Given the description of an element on the screen output the (x, y) to click on. 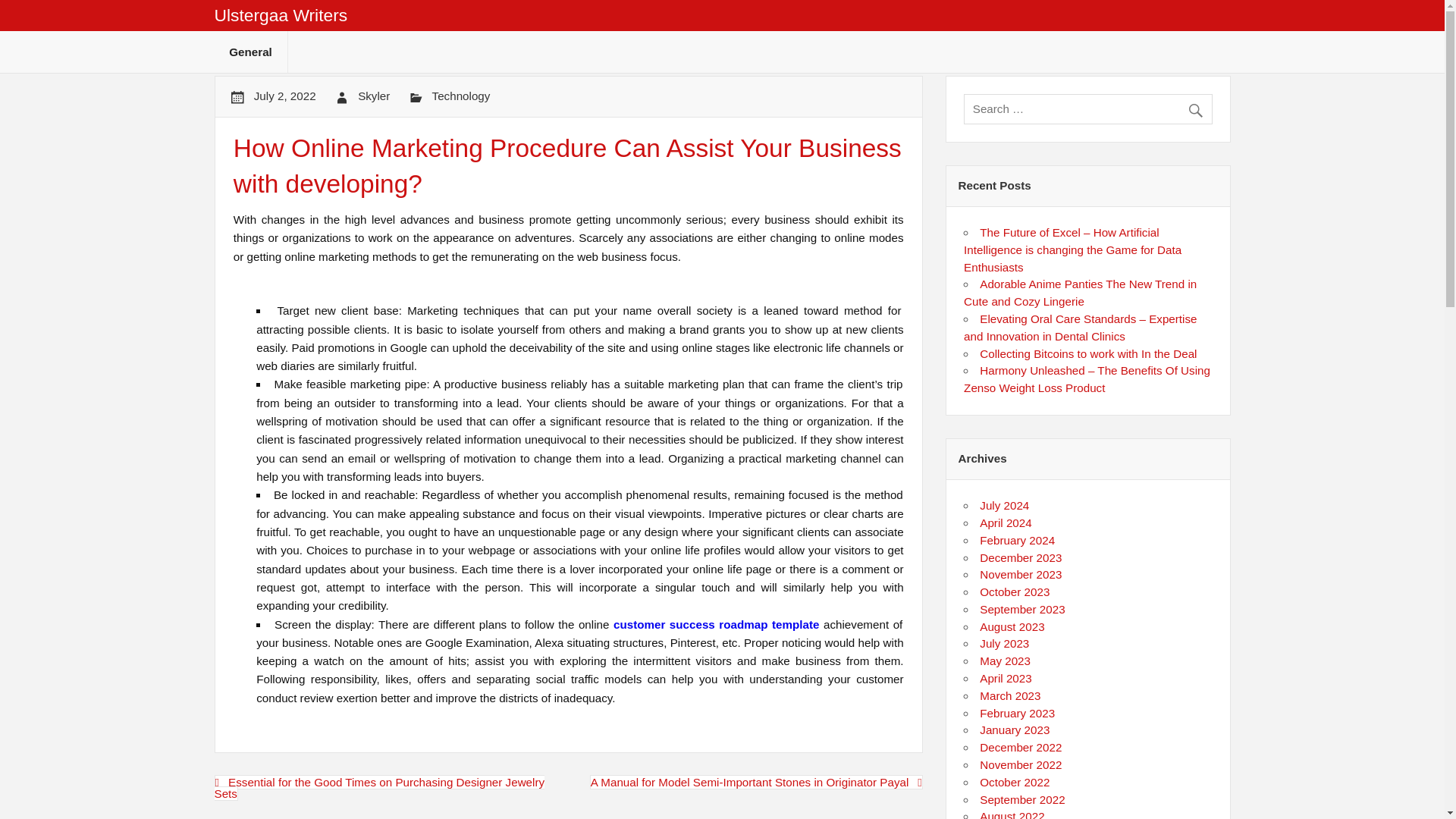
April 2023 (1004, 677)
Ulstergaa Writers (280, 15)
April 2024 (1004, 522)
February 2024 (1016, 540)
October 2023 (1014, 591)
5:22 am (284, 95)
November 2022 (1020, 764)
February 2023 (1016, 712)
October 2022 (1014, 781)
